Given the description of an element on the screen output the (x, y) to click on. 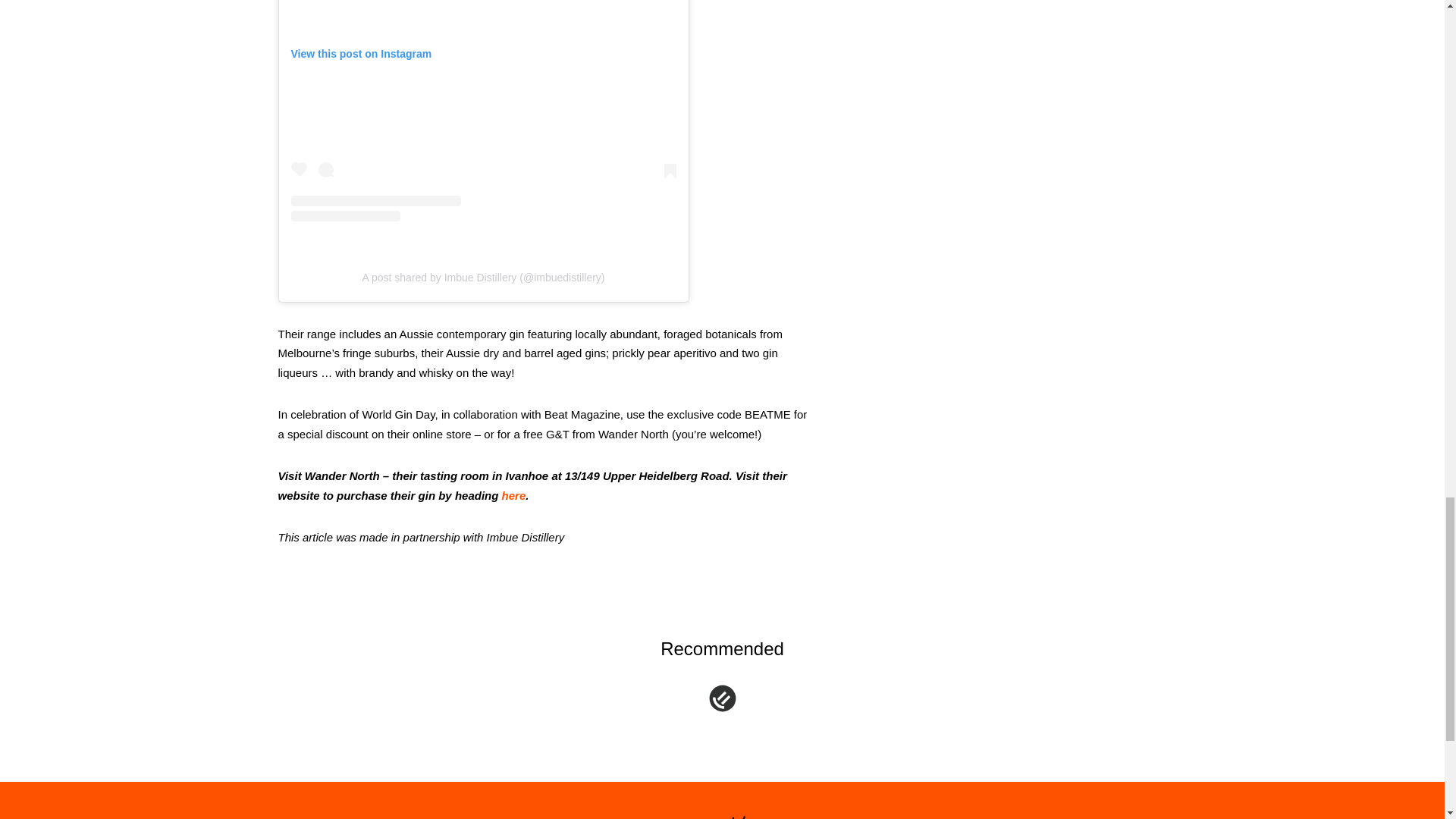
here (513, 495)
